Given the description of an element on the screen output the (x, y) to click on. 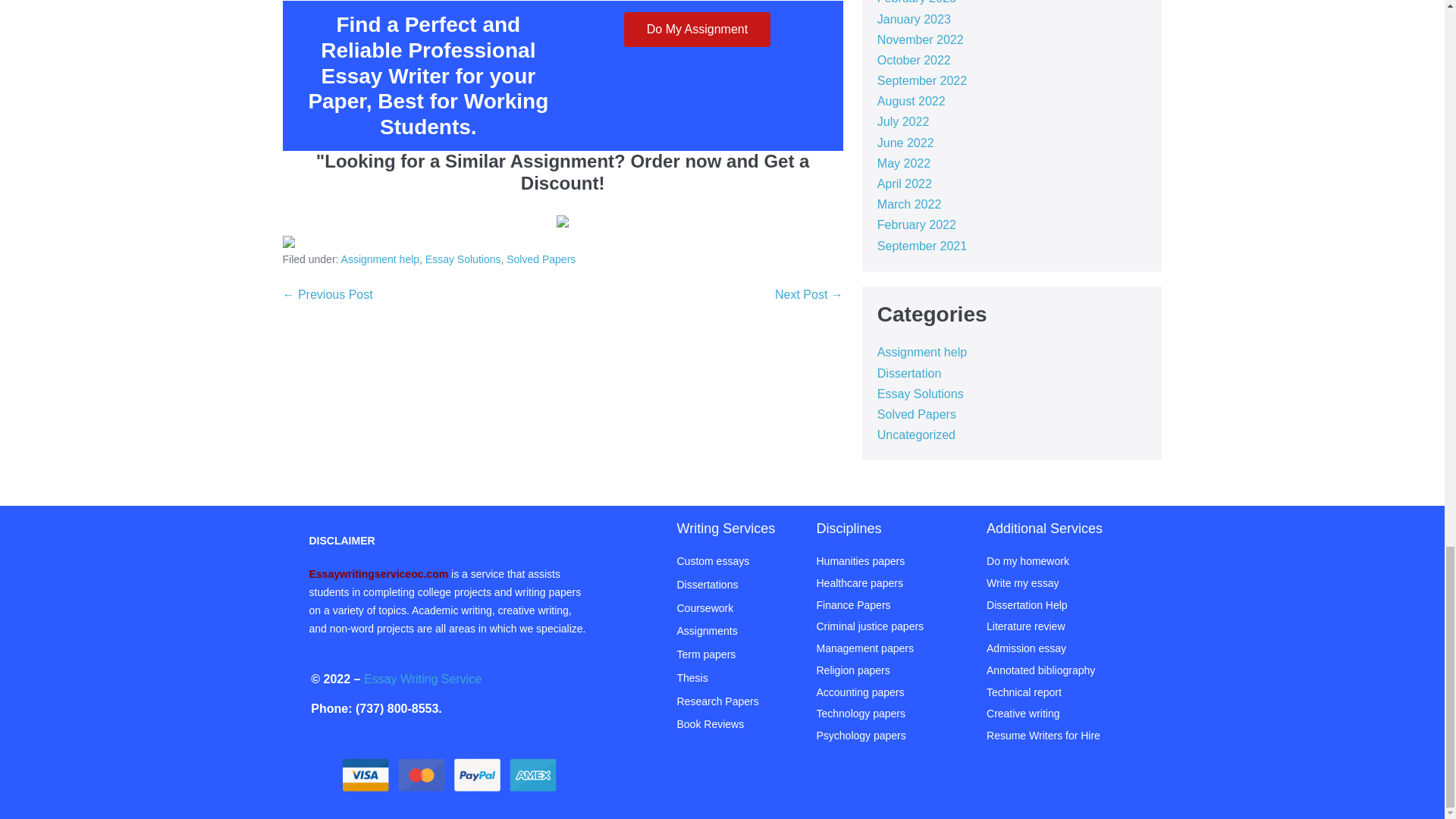
Essay Solutions (462, 259)
Assignment help (380, 259)
Do My Assignment (697, 29)
Solved Papers (540, 259)
